Given the description of an element on the screen output the (x, y) to click on. 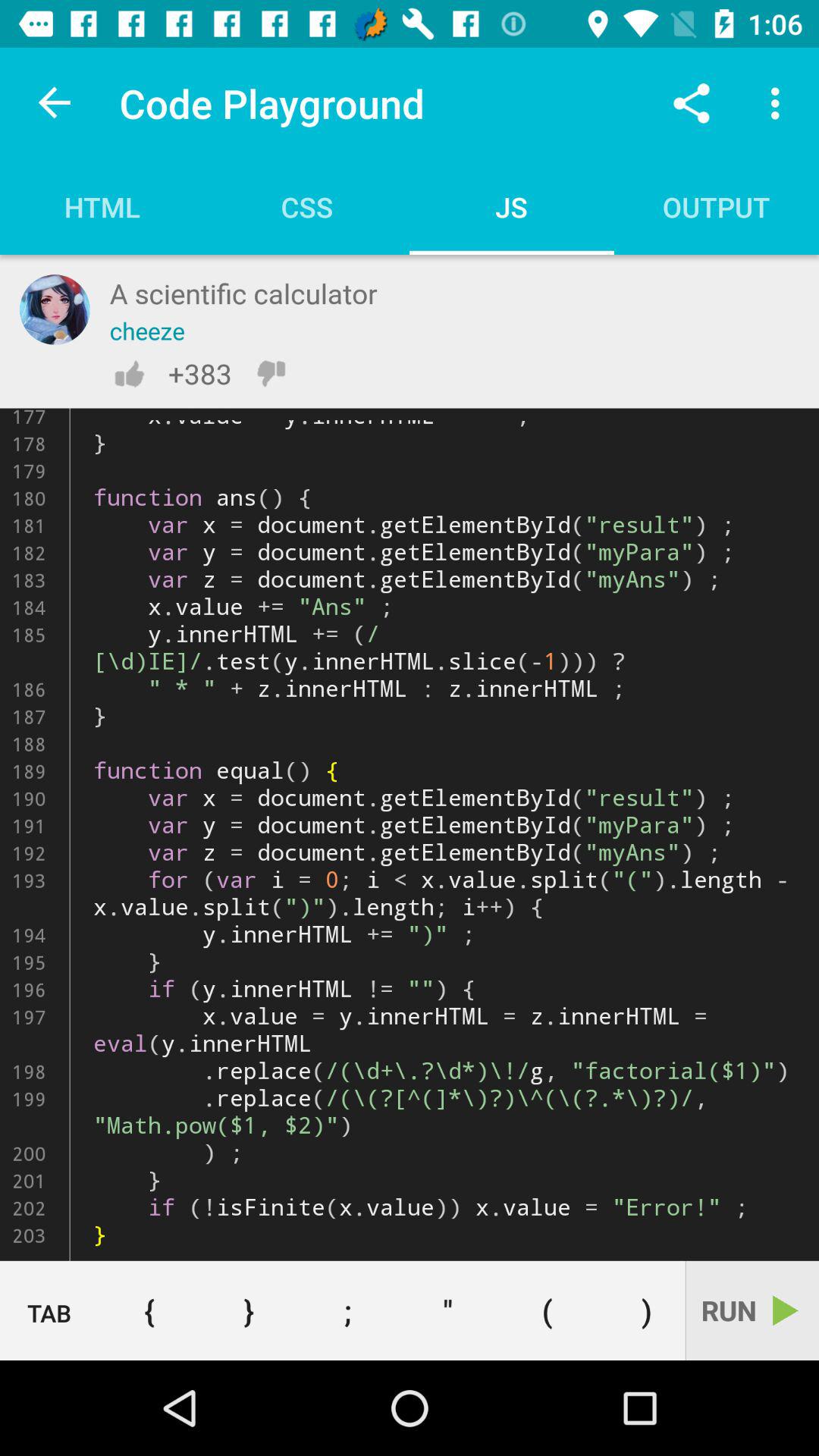
launch the icon above the output icon (779, 103)
